Given the description of an element on the screen output the (x, y) to click on. 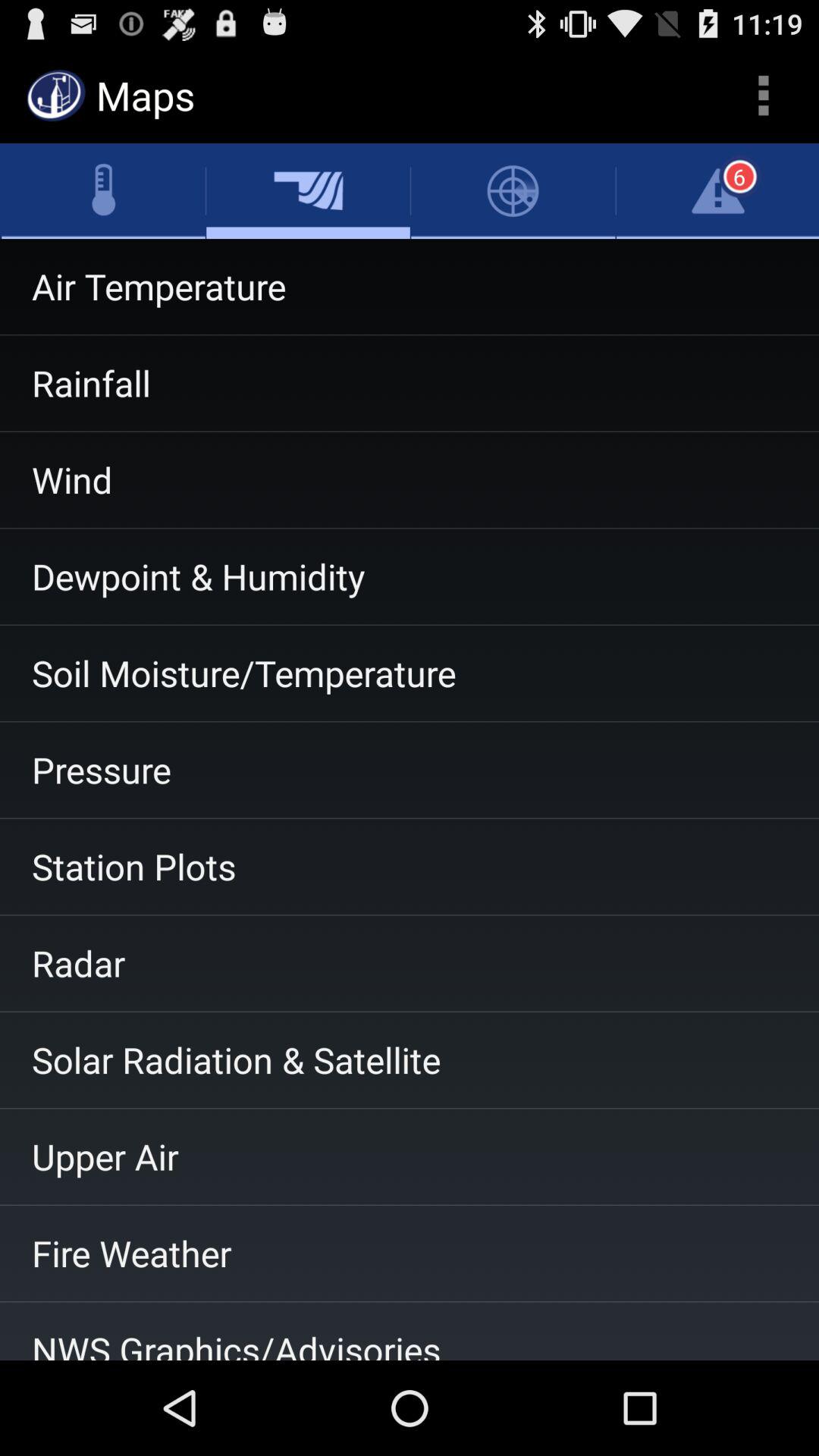
launch item above soil moisture/temperature app (409, 576)
